Given the description of an element on the screen output the (x, y) to click on. 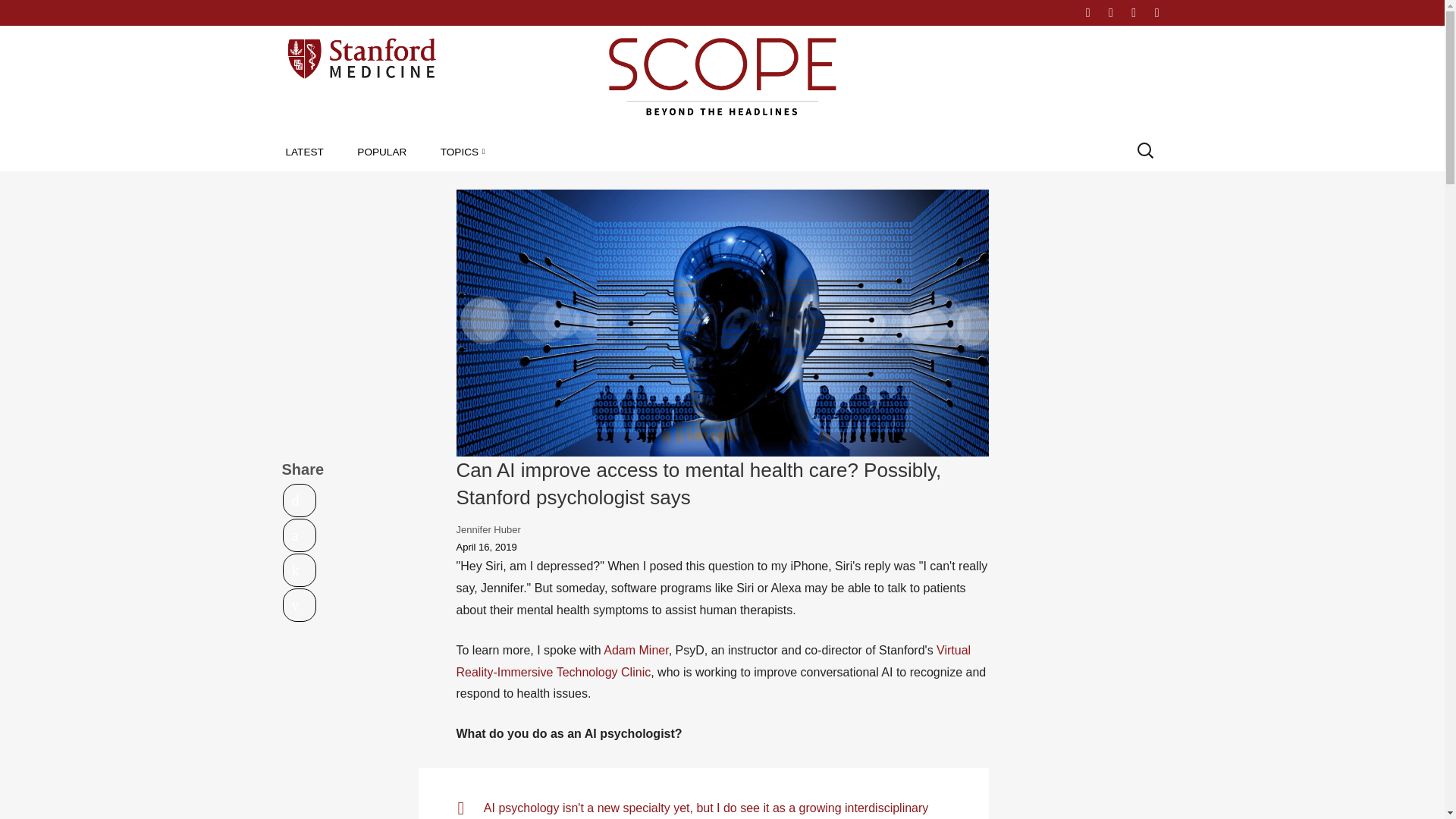
LATEST (304, 152)
MEDICAL RESEARCH (527, 186)
Opens in a new window (299, 534)
Share on Facebook (299, 534)
POPULAR (381, 152)
Search (26, 12)
Share on LinkedIn (299, 570)
TOPICS (462, 152)
Opens in a new window (299, 500)
ABOUT (1043, 12)
Share on Email (299, 605)
Share on Twitter (299, 500)
Jennifer Huber (489, 529)
Virtual Reality-Immersive Technology Clinic (714, 660)
Opens in a new window (299, 570)
